Given the description of an element on the screen output the (x, y) to click on. 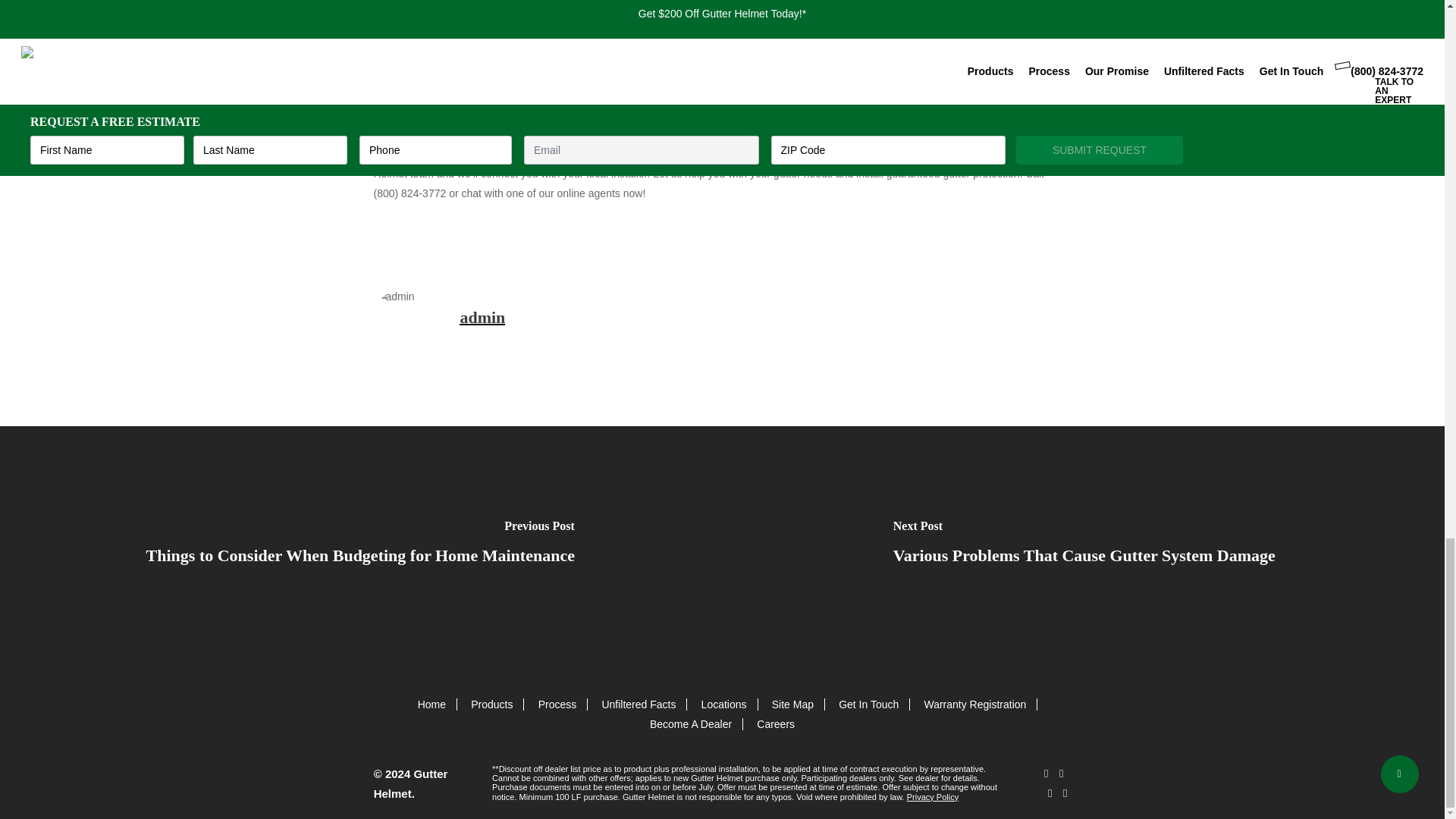
Home (431, 704)
Warranty Registration (974, 704)
Process (557, 704)
Locations (723, 704)
admin (482, 316)
Unfiltered Facts (638, 704)
Careers (775, 724)
Site Map (792, 704)
Become A Dealer (690, 724)
Products (491, 704)
Get In Touch (868, 704)
Privacy Policy (932, 796)
